Given the description of an element on the screen output the (x, y) to click on. 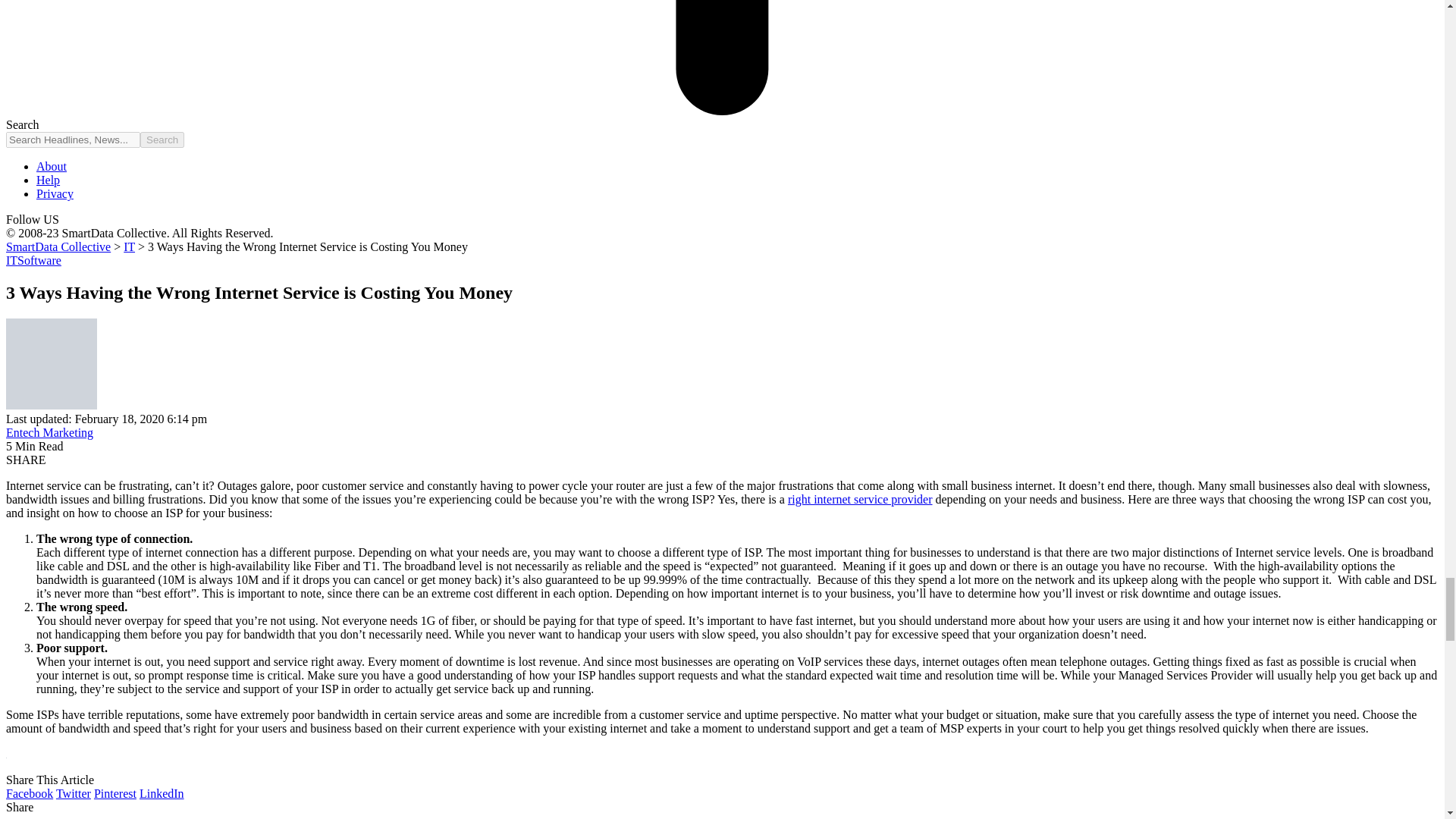
Go to SmartData Collective. (57, 246)
Search (161, 139)
